Given the description of an element on the screen output the (x, y) to click on. 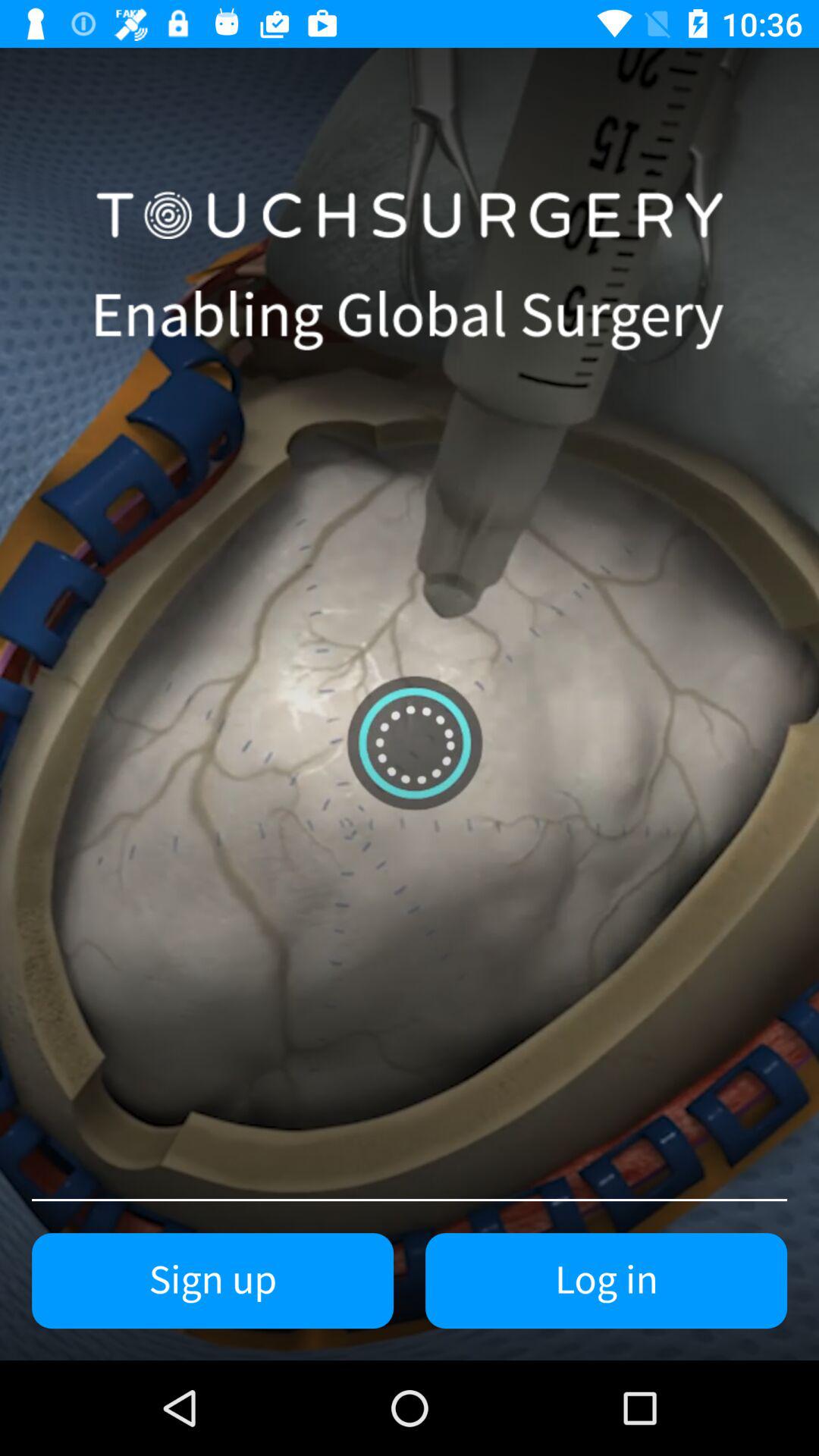
turn off the sign up at the bottom left corner (212, 1280)
